Given the description of an element on the screen output the (x, y) to click on. 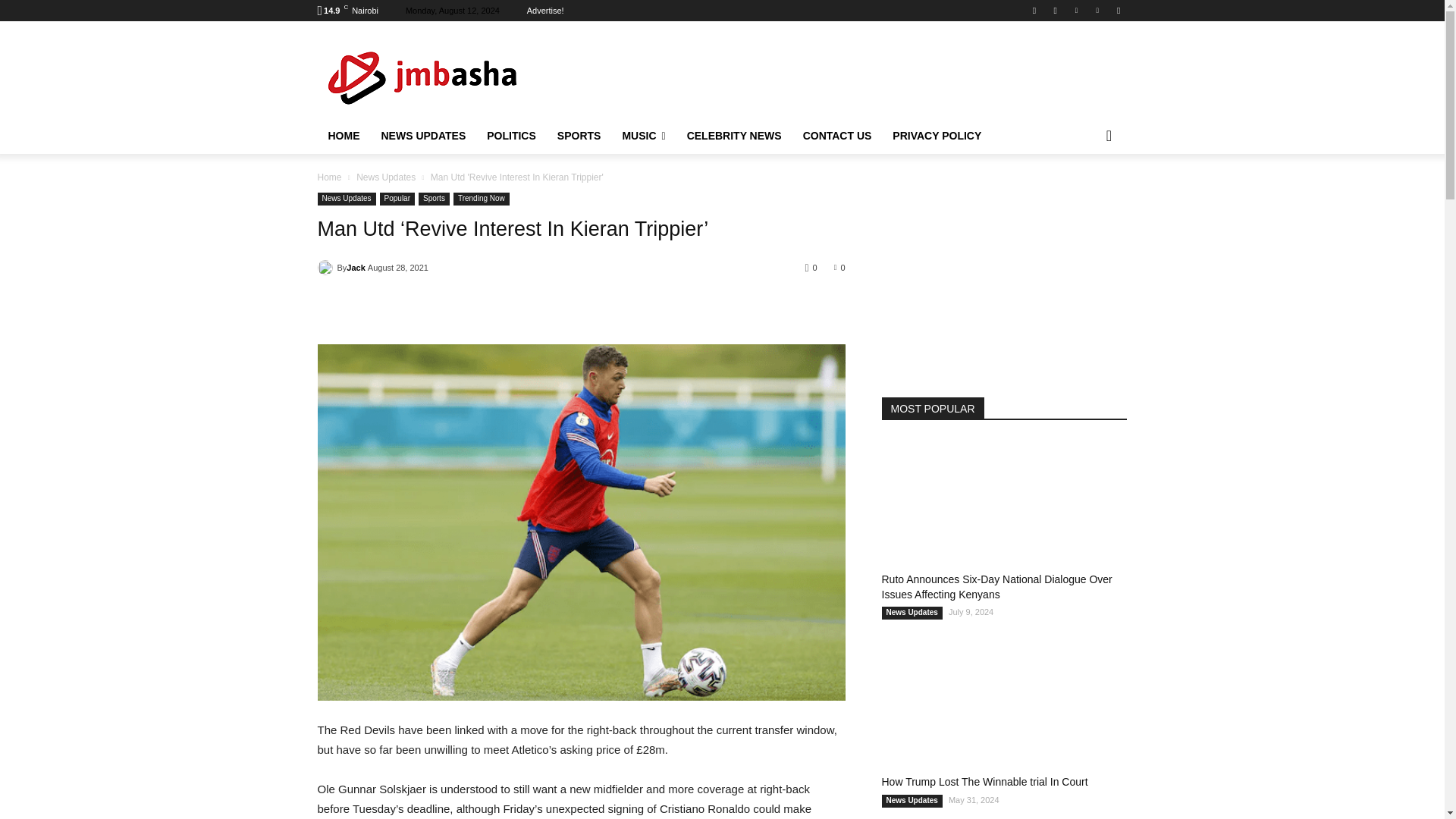
POLITICS (511, 135)
NEWS UPDATES (422, 135)
Advertisement (848, 74)
Advertise! (545, 10)
HOME (343, 135)
